Given the description of an element on the screen output the (x, y) to click on. 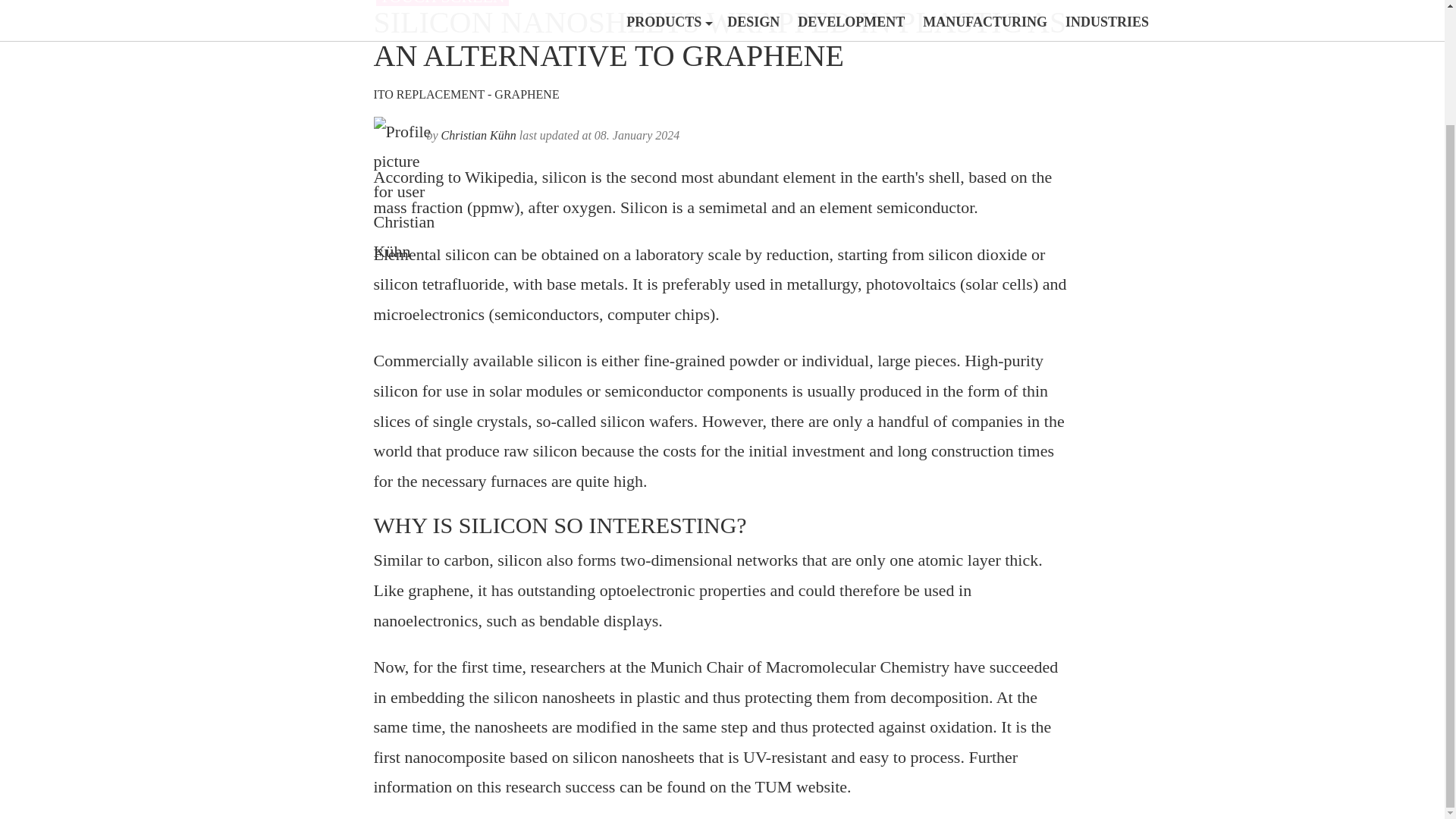
TOUCH SCREEN (441, 2)
